Given the description of an element on the screen output the (x, y) to click on. 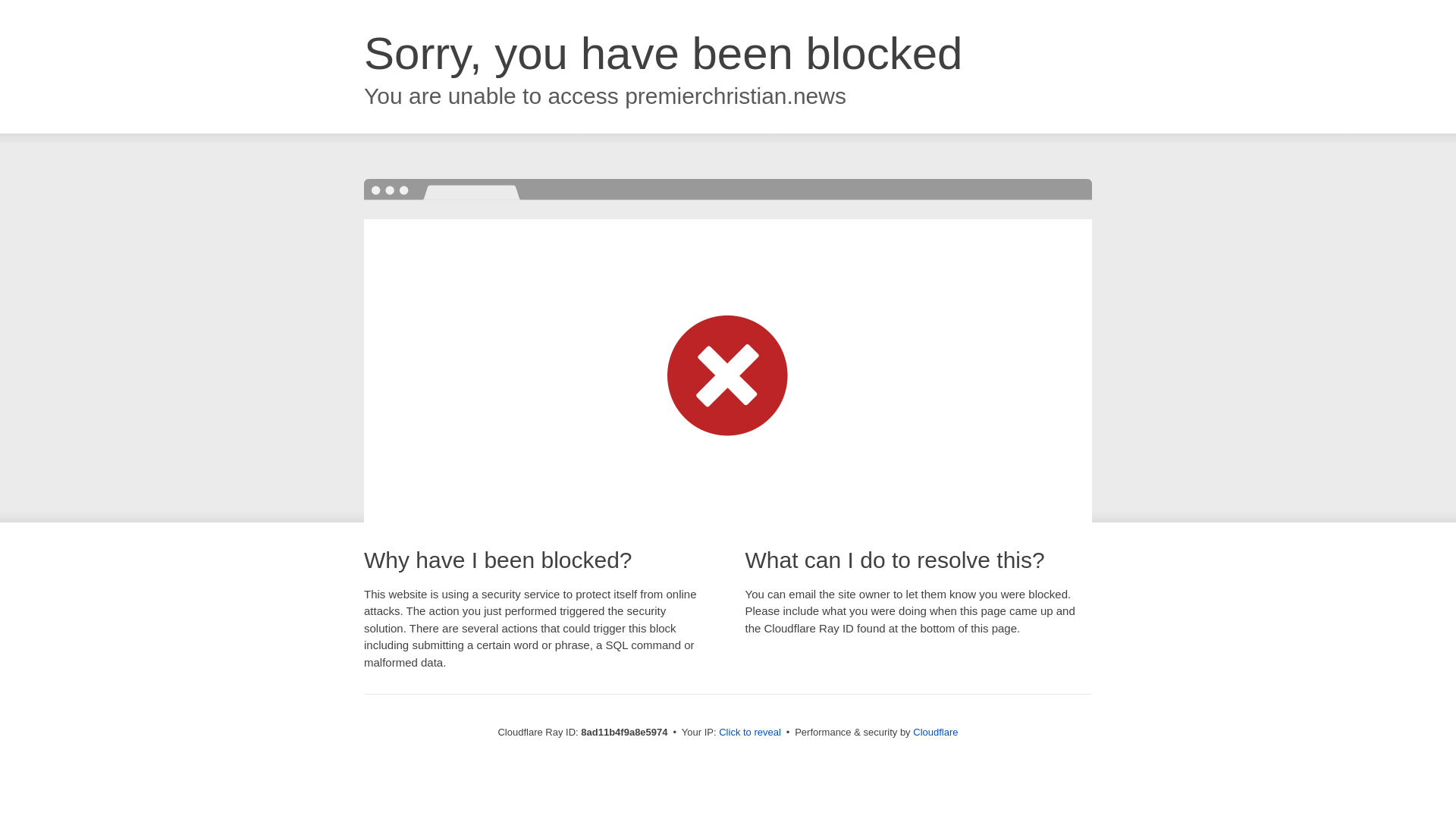
Click to reveal (749, 732)
Cloudflare (935, 731)
